Given the description of an element on the screen output the (x, y) to click on. 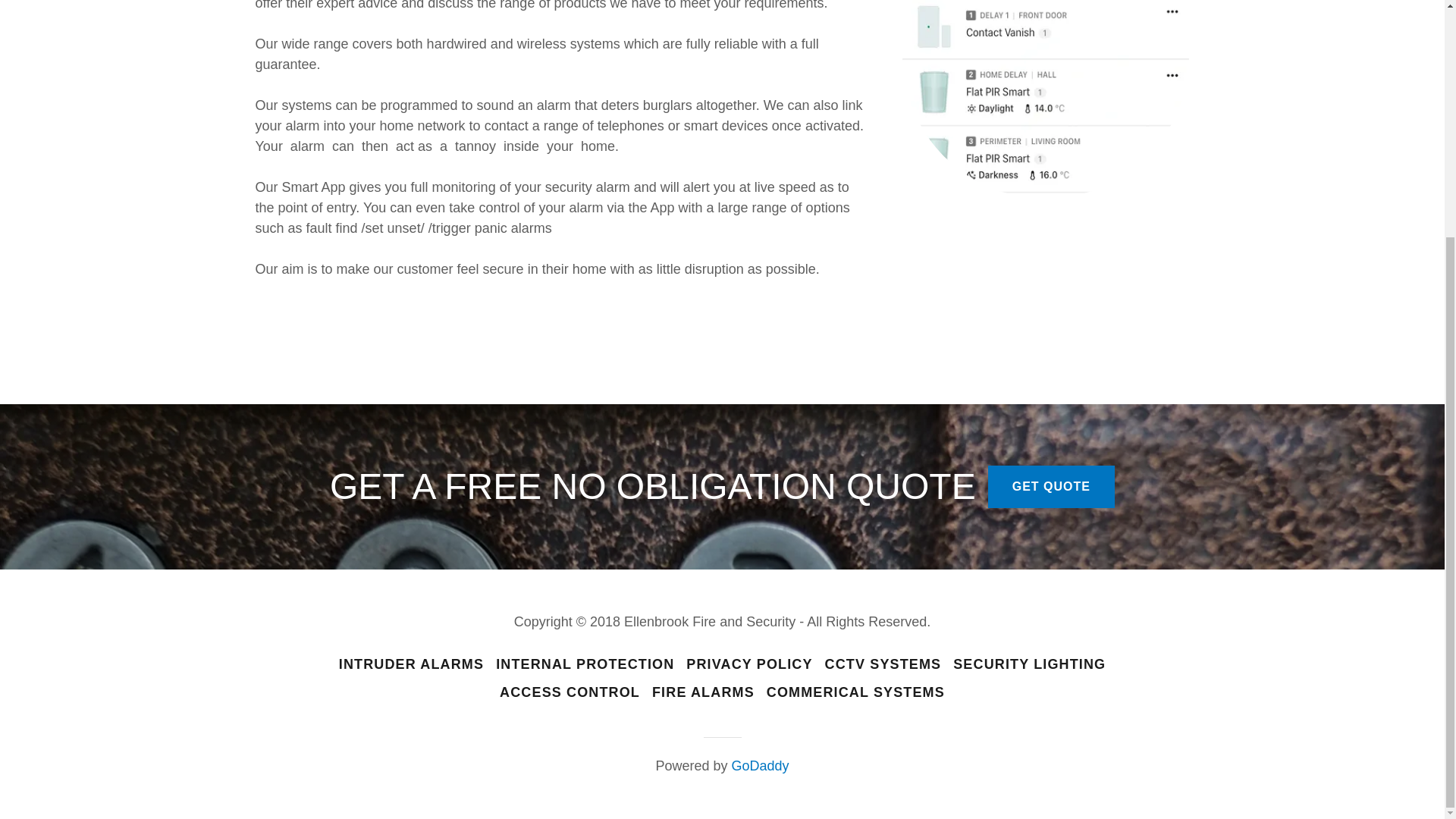
FIRE ALARMS (703, 692)
PRIVACY POLICY (748, 664)
INTERNAL PROTECTION (584, 664)
GET QUOTE (1051, 486)
INTRUDER ALARMS (411, 664)
SECURITY LIGHTING (1029, 664)
CCTV SYSTEMS (882, 664)
ACCESS CONTROL (569, 692)
GoDaddy (759, 765)
COMMERICAL SYSTEMS (855, 692)
